Given the description of an element on the screen output the (x, y) to click on. 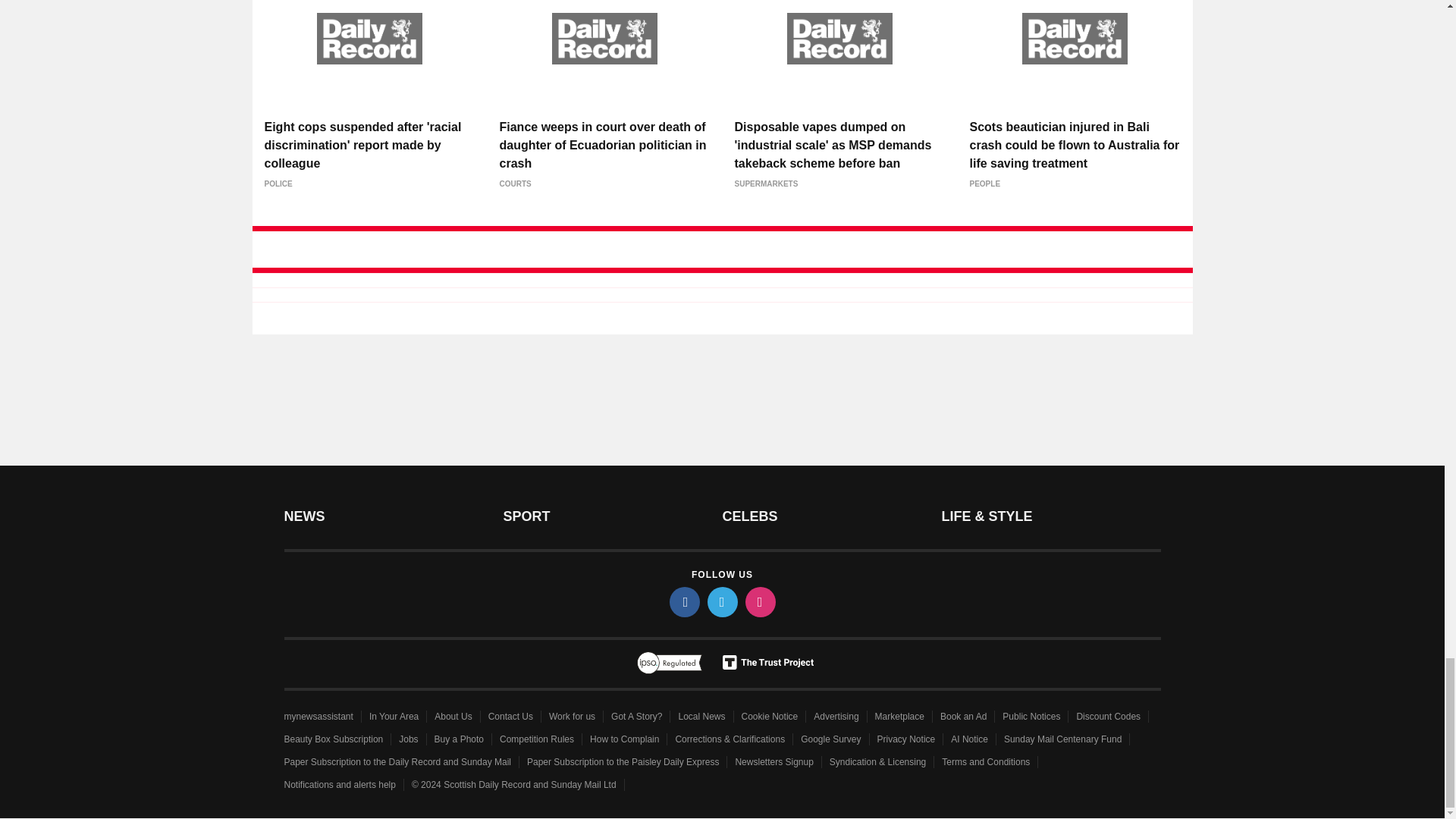
instagram (759, 602)
facebook (683, 602)
twitter (721, 602)
